Given the description of an element on the screen output the (x, y) to click on. 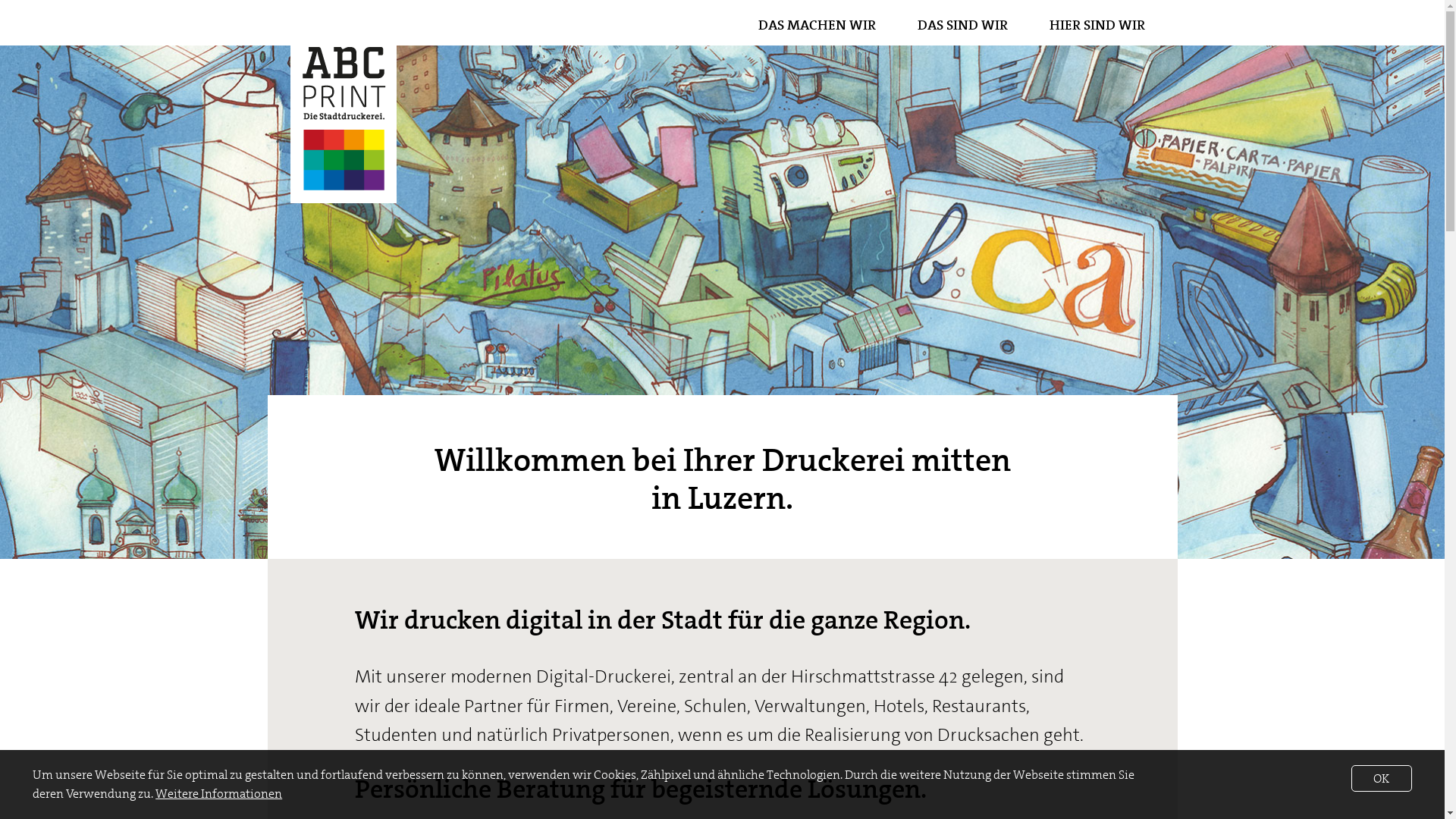
Weitere Informationen Element type: text (218, 793)
OK Element type: text (1381, 778)
DAS MACHEN WIR Element type: text (816, 24)
DAS SIND WIR Element type: text (962, 24)
HIER SIND WIR Element type: text (1096, 24)
Logo ABC Print Element type: hover (343, 104)
